Given the description of an element on the screen output the (x, y) to click on. 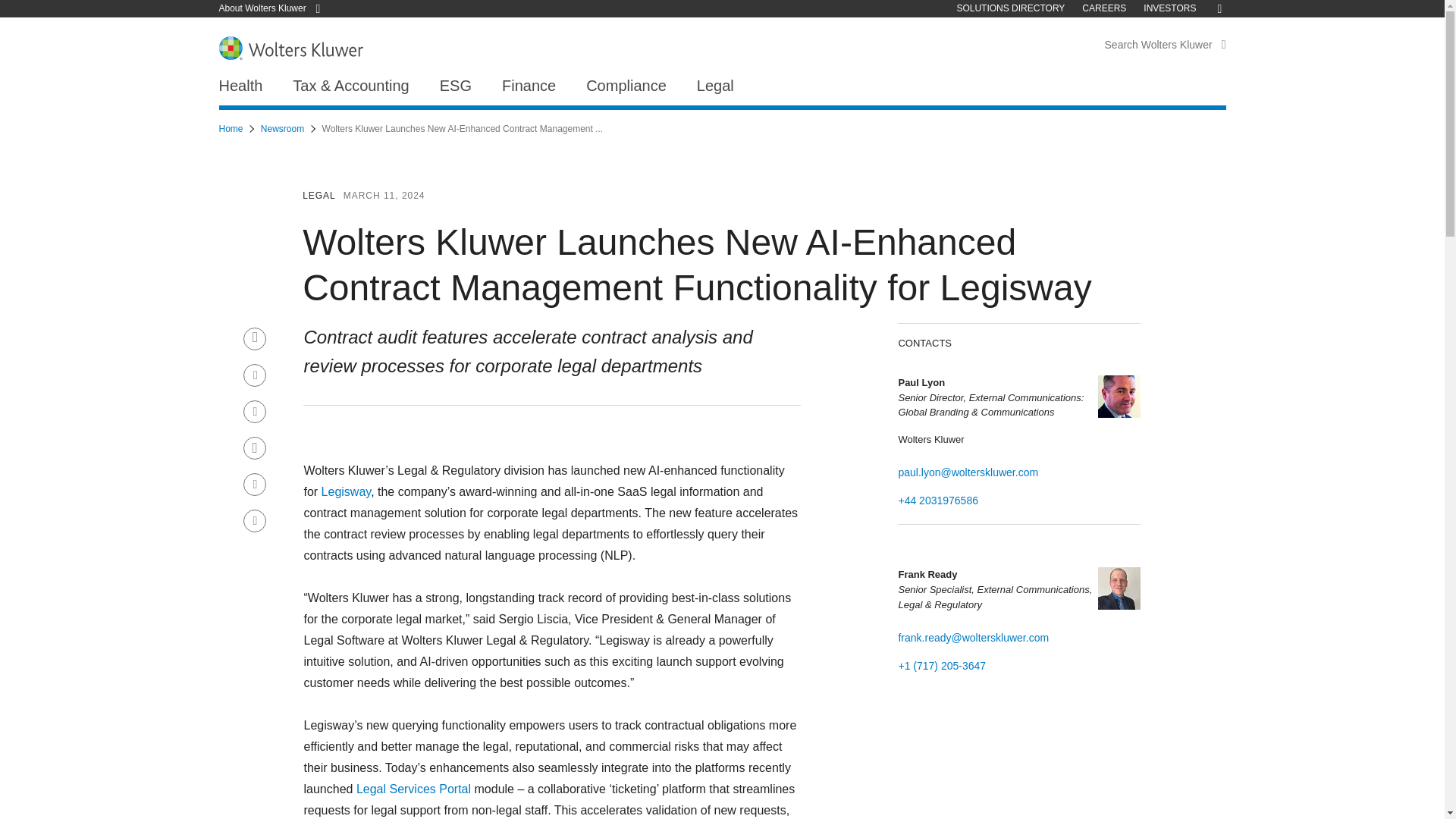
SOLUTIONS DIRECTORY (1010, 8)
Logo (290, 47)
About Wolters Kluwer (274, 7)
INVESTORS (1168, 8)
Expand Search (1223, 43)
CAREERS (1103, 8)
